Given the description of an element on the screen output the (x, y) to click on. 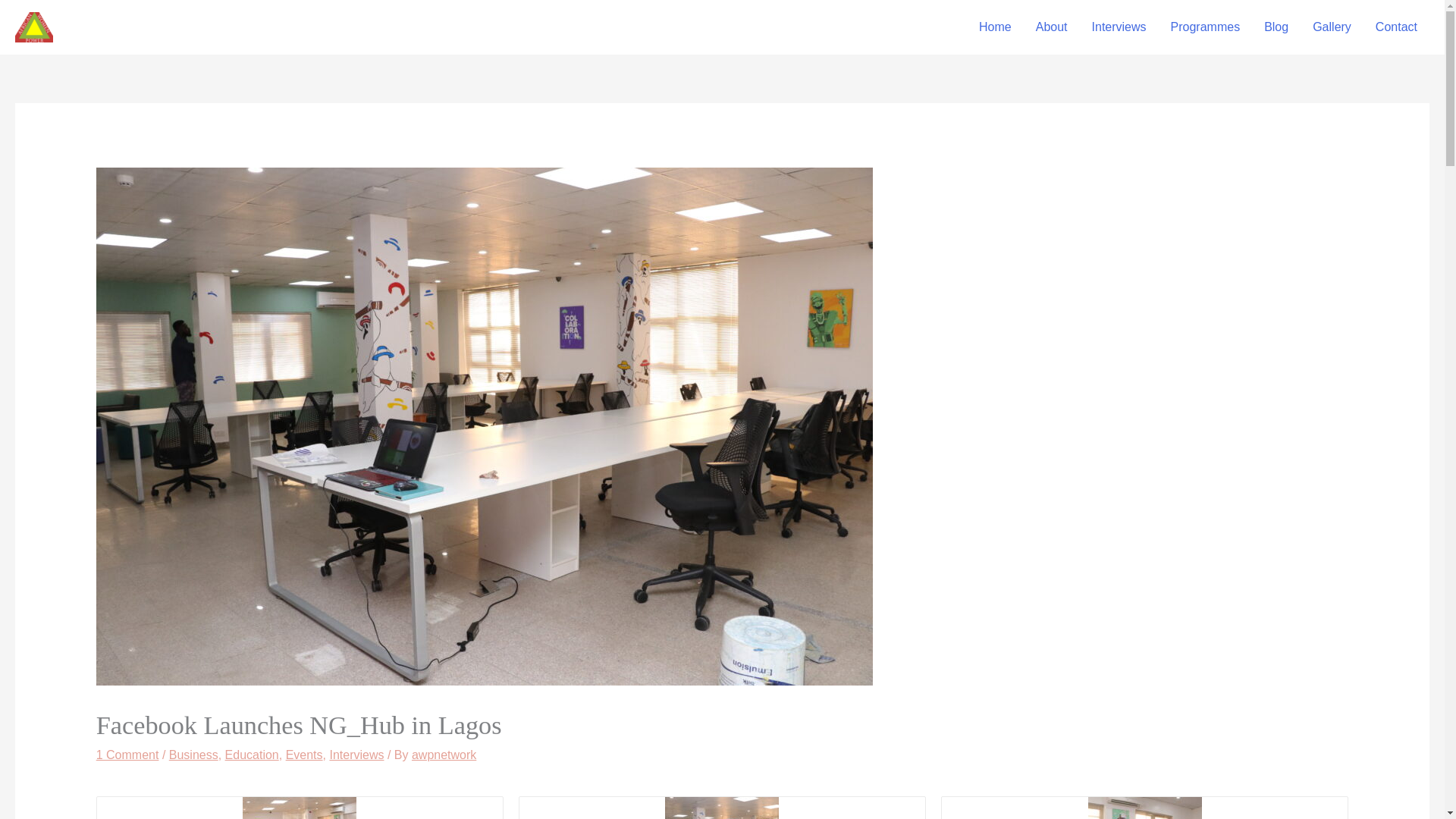
View all posts by awpnetwork (444, 754)
Interviews (1119, 27)
Home (994, 27)
Contact (1395, 27)
About (1051, 27)
Programmes (1205, 27)
Gallery (1331, 27)
Blog (1276, 27)
